Given the description of an element on the screen output the (x, y) to click on. 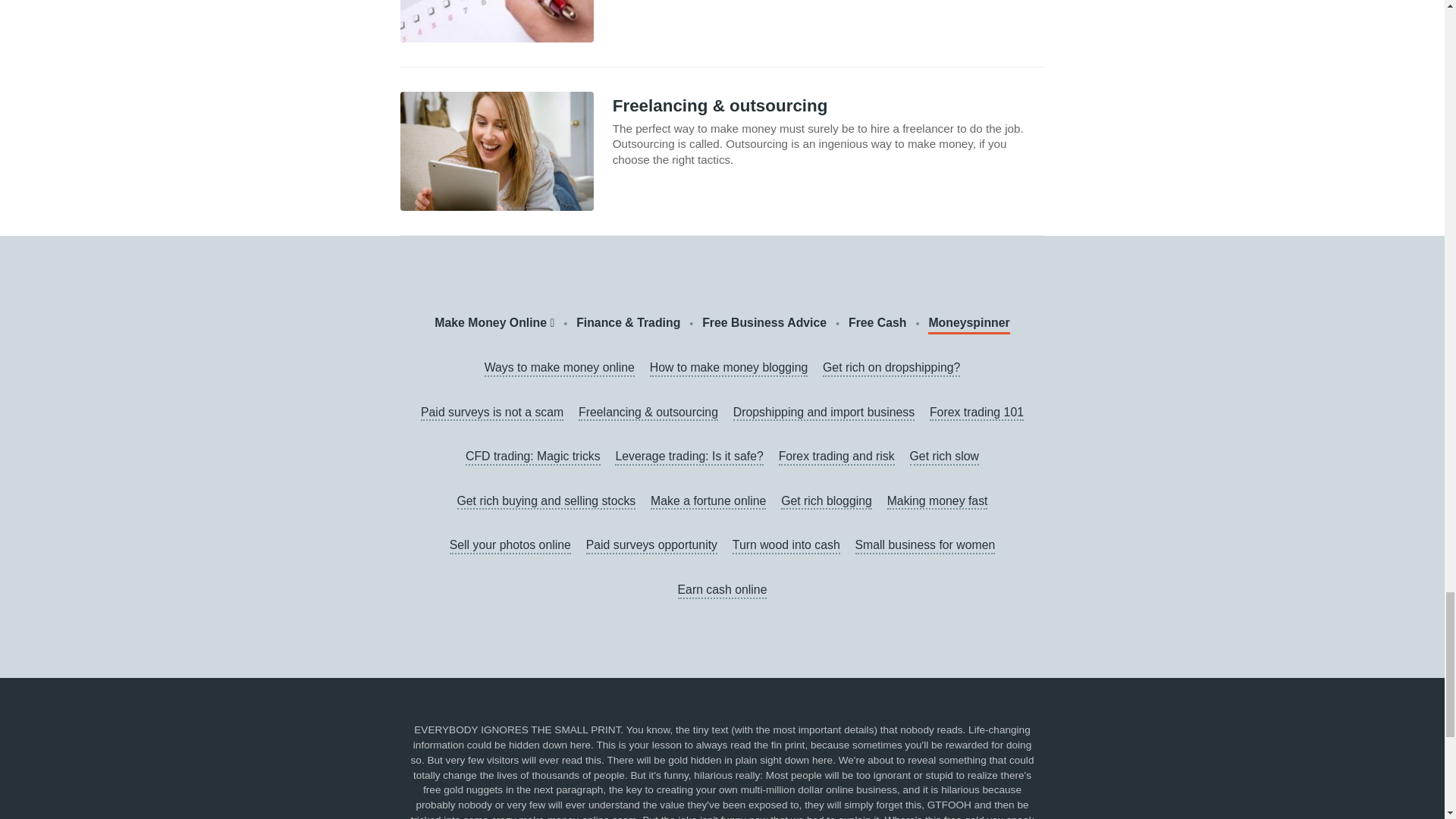
Get rich on dropshipping? (890, 368)
Get rich slow (944, 457)
Free Cash (877, 322)
CFD trading: Magic tricks (532, 457)
How to make money blogging (728, 368)
Dropshipping and import business (823, 413)
Forex trading 101 (976, 413)
Paid surveys is not a scam (491, 413)
Making money fast (937, 502)
Free Business Advice (764, 322)
Leverage trading: Is it safe? (688, 457)
Sell your photos online (509, 546)
Moneyspinner (968, 323)
Ways to make money online (559, 368)
